Given the description of an element on the screen output the (x, y) to click on. 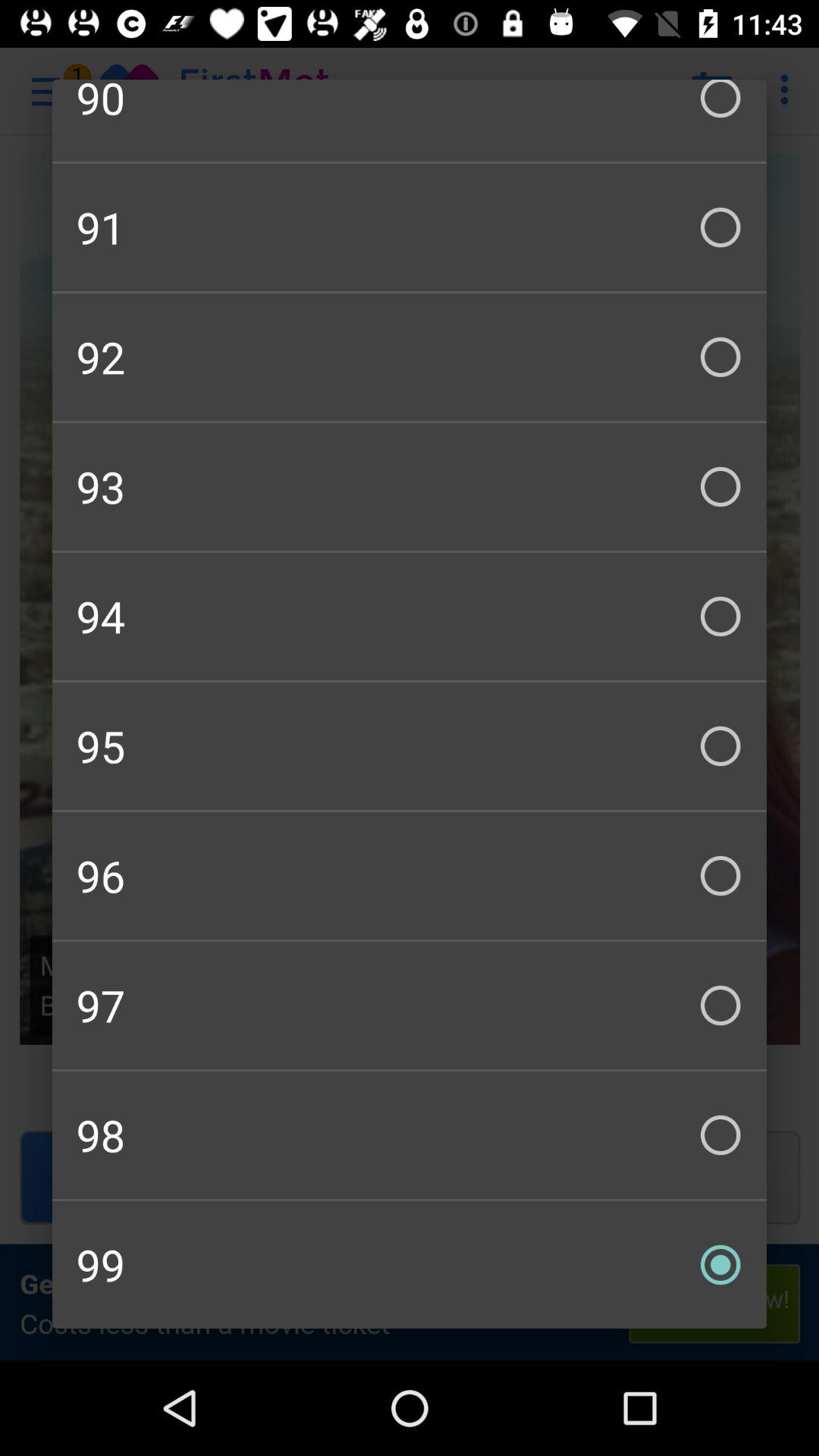
choose item below 93 item (409, 616)
